Given the description of an element on the screen output the (x, y) to click on. 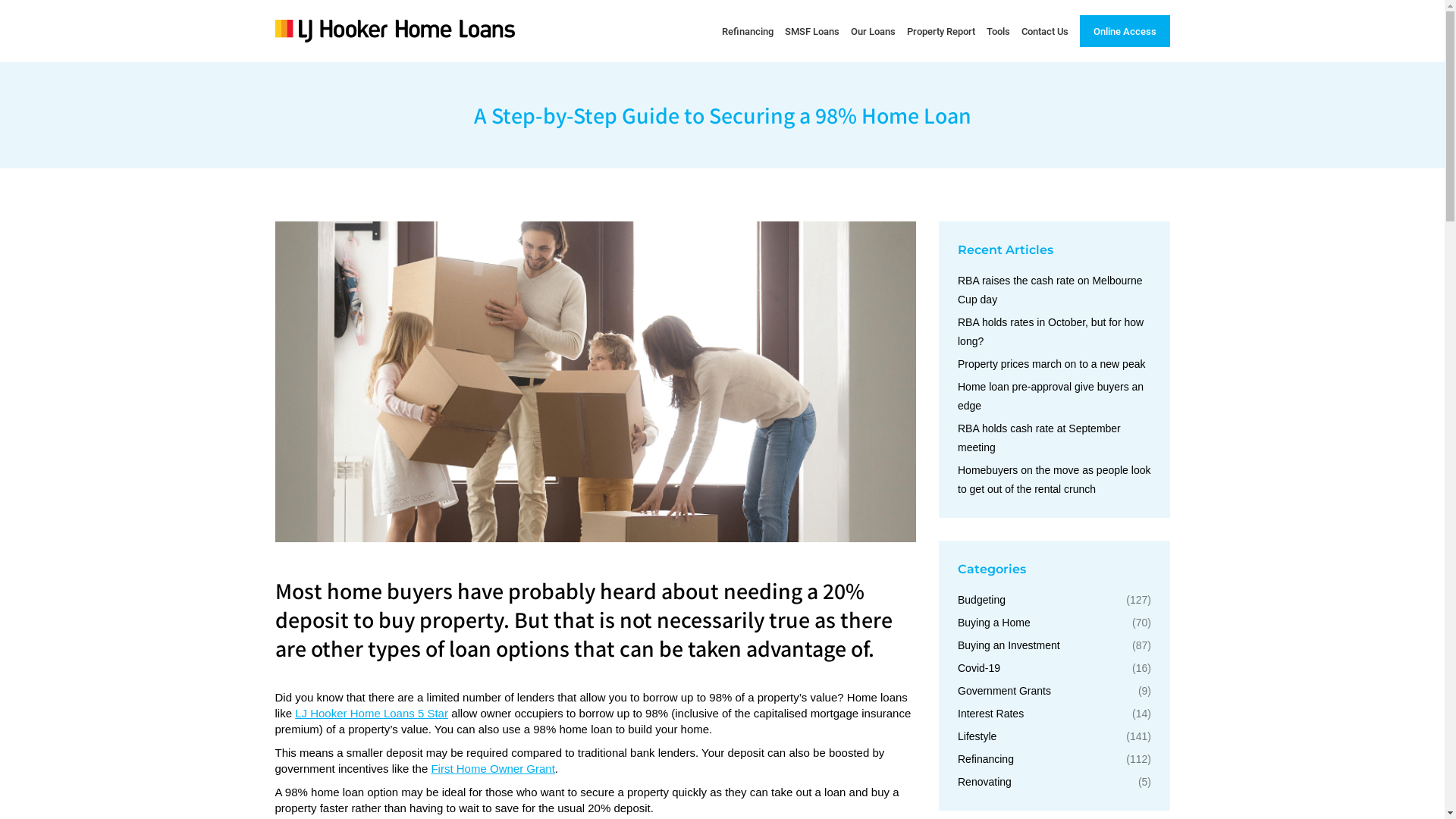
RBA holds cash rate at September meeting Element type: text (1053, 438)
Refinancing Element type: text (747, 30)
BLOG Step by step guide to securing 98 Element type: hover (594, 381)
SMSF Loans Element type: text (811, 30)
Property Report Element type: text (940, 30)
Contact Us Element type: text (1043, 30)
First Home Owner Grant Element type: text (492, 767)
RBA holds rates in October, but for how long? Element type: text (1053, 332)
Our Loans Element type: text (872, 30)
Home loan pre-approval give buyers an edge Element type: text (1053, 396)
LJ Hooker Home Loans 5 Star Element type: text (371, 712)
Tools Element type: text (997, 30)
RBA raises the cash rate on Melbourne Cup day Element type: text (1053, 290)
Online Access Element type: text (1124, 31)
Property prices march on to a new peak Element type: text (1050, 363)
